Given the description of an element on the screen output the (x, y) to click on. 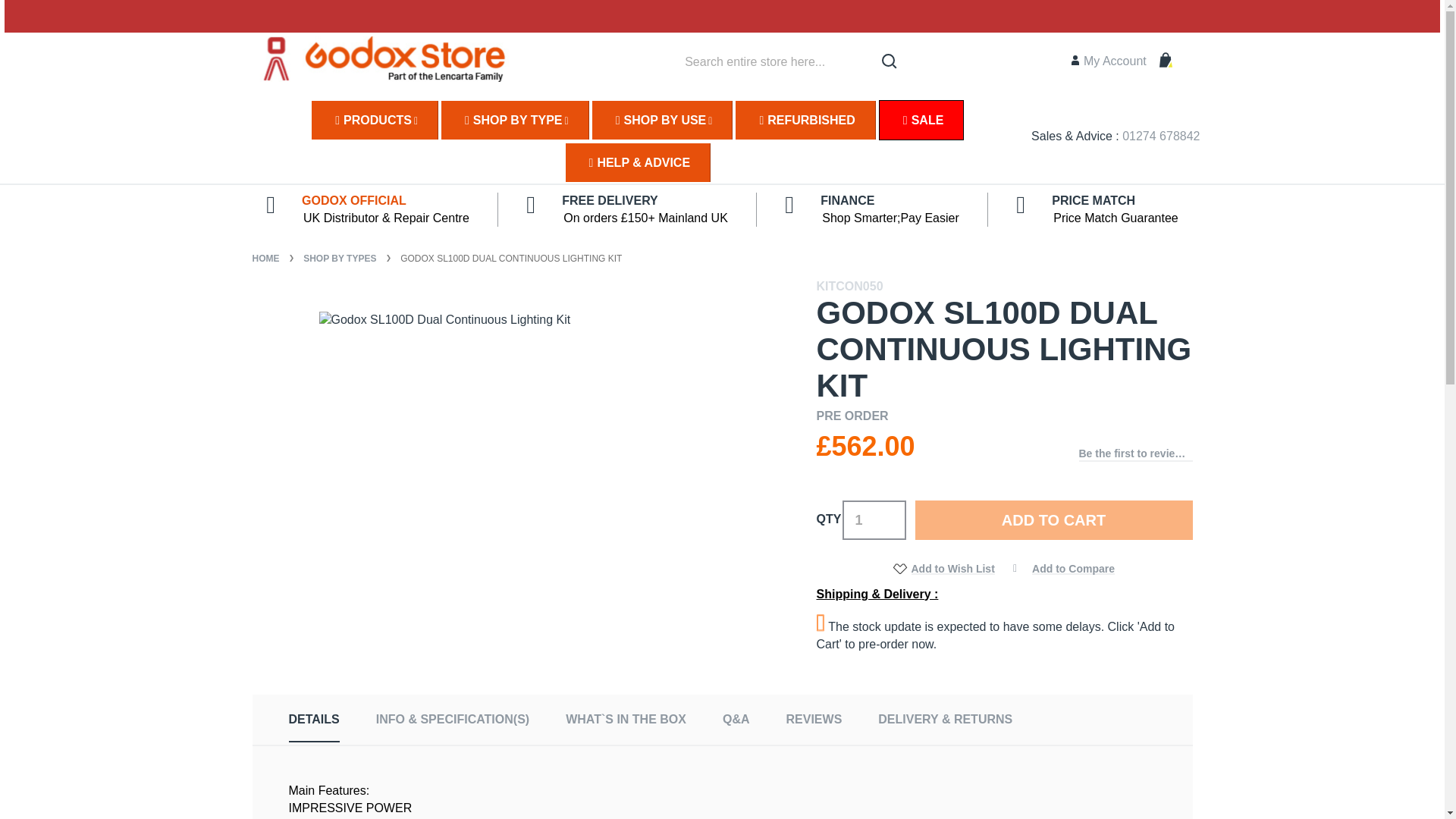
Godox UK  (386, 61)
My Account (1108, 61)
1 (873, 519)
My Account (1108, 61)
PRODUCTS (374, 120)
Products (374, 120)
Godox UK  (386, 58)
My Cart (1174, 64)
